Given the description of an element on the screen output the (x, y) to click on. 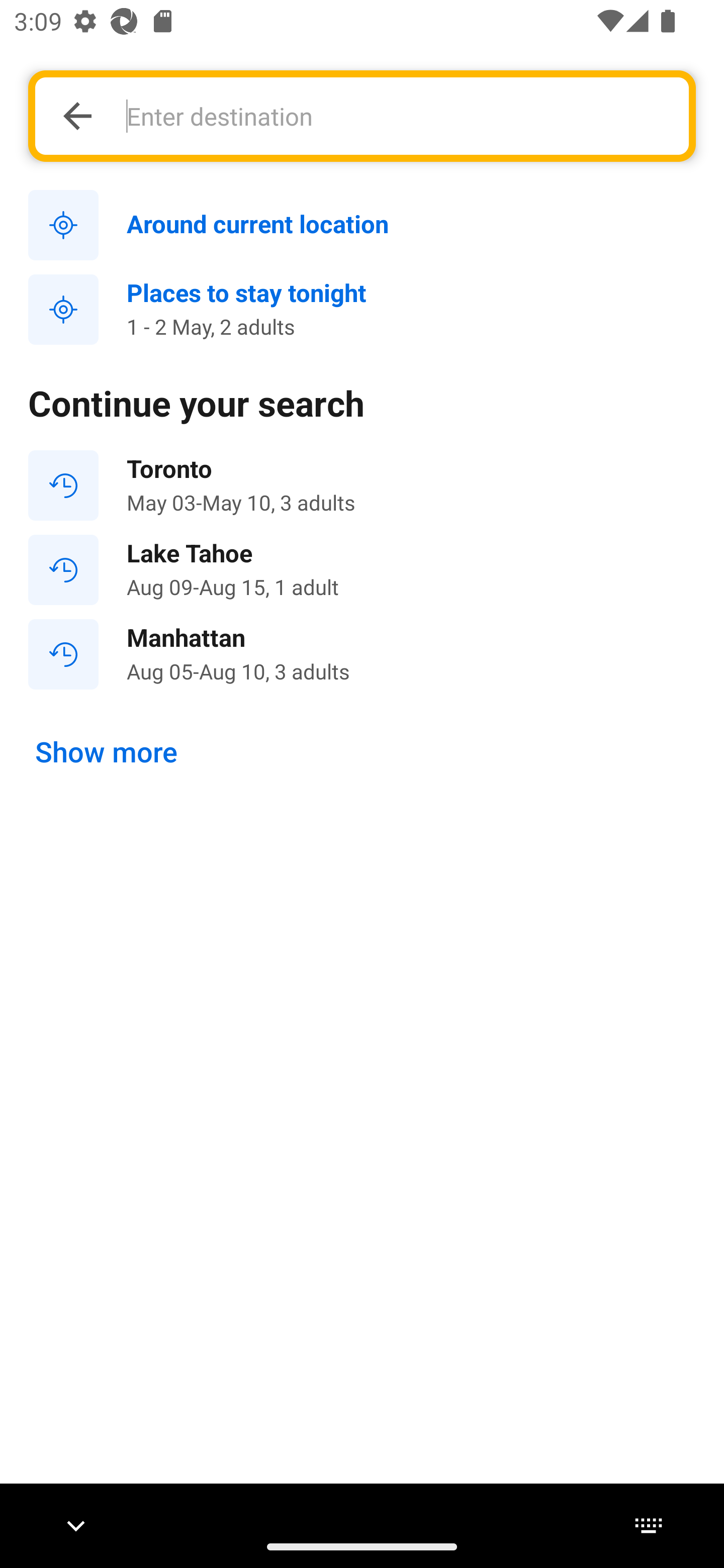
Enter destination (396, 115)
Around current location (362, 225)
Places to stay tonight 1 - 2 May, 2 adults (362, 309)
Toronto May 03-May 10, 3 adults  (362, 485)
Lake Tahoe Aug 09-Aug 15, 1 adult  (362, 569)
Manhattan Aug 05-Aug 10, 3 adults  (362, 653)
Show more (106, 752)
